Given the description of an element on the screen output the (x, y) to click on. 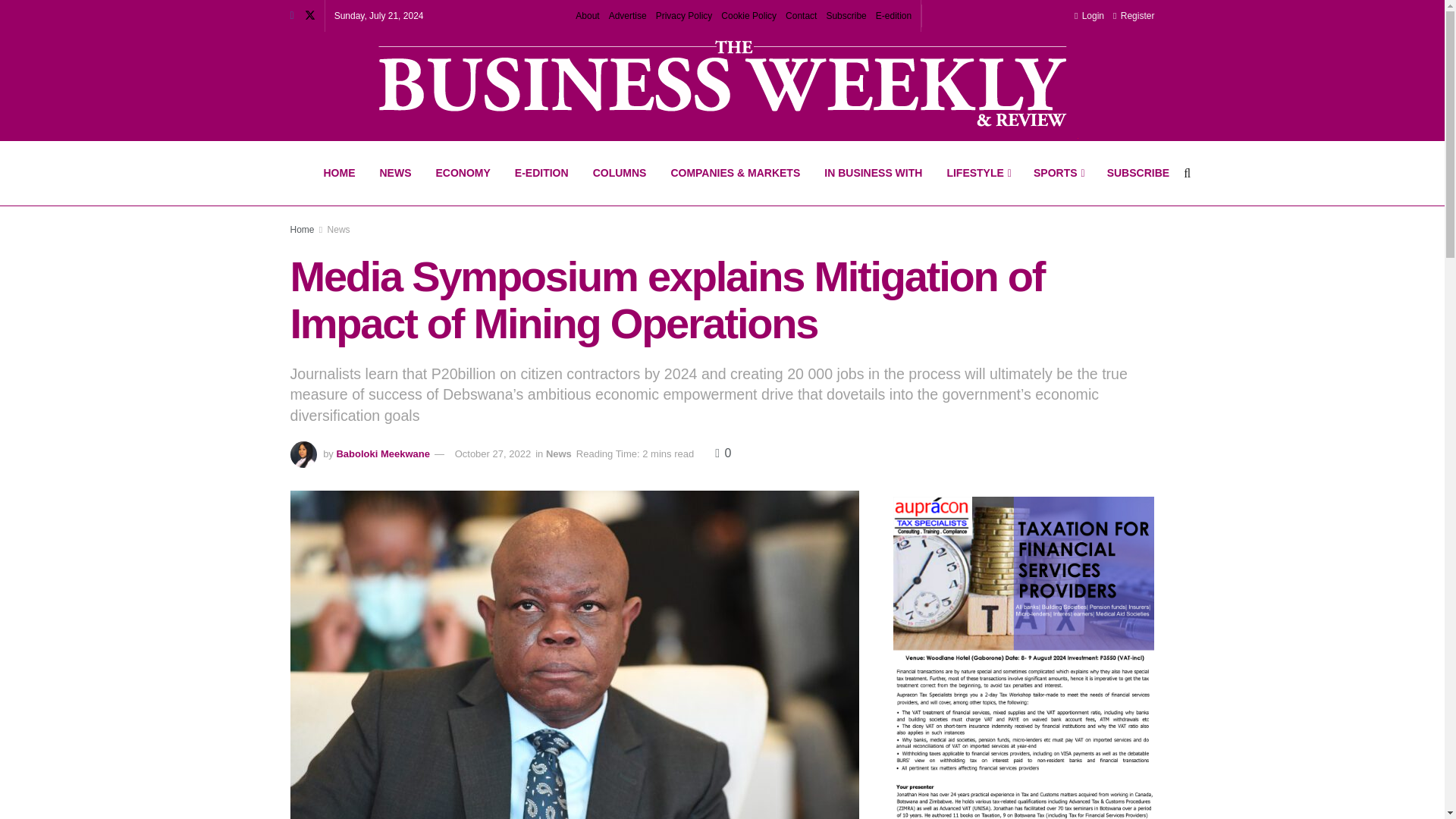
Cookie Policy (748, 15)
Login (1088, 15)
Privacy Policy (684, 15)
IN BUSINESS WITH (873, 172)
Contact (801, 15)
E-EDITION (541, 172)
Subscribe (845, 15)
ECONOMY (462, 172)
SUBSCRIBE (1137, 172)
Register (1133, 15)
E-edition (893, 15)
LIFESTYLE (978, 172)
COLUMNS (619, 172)
Advertise (627, 15)
SPORTS (1058, 172)
